Given the description of an element on the screen output the (x, y) to click on. 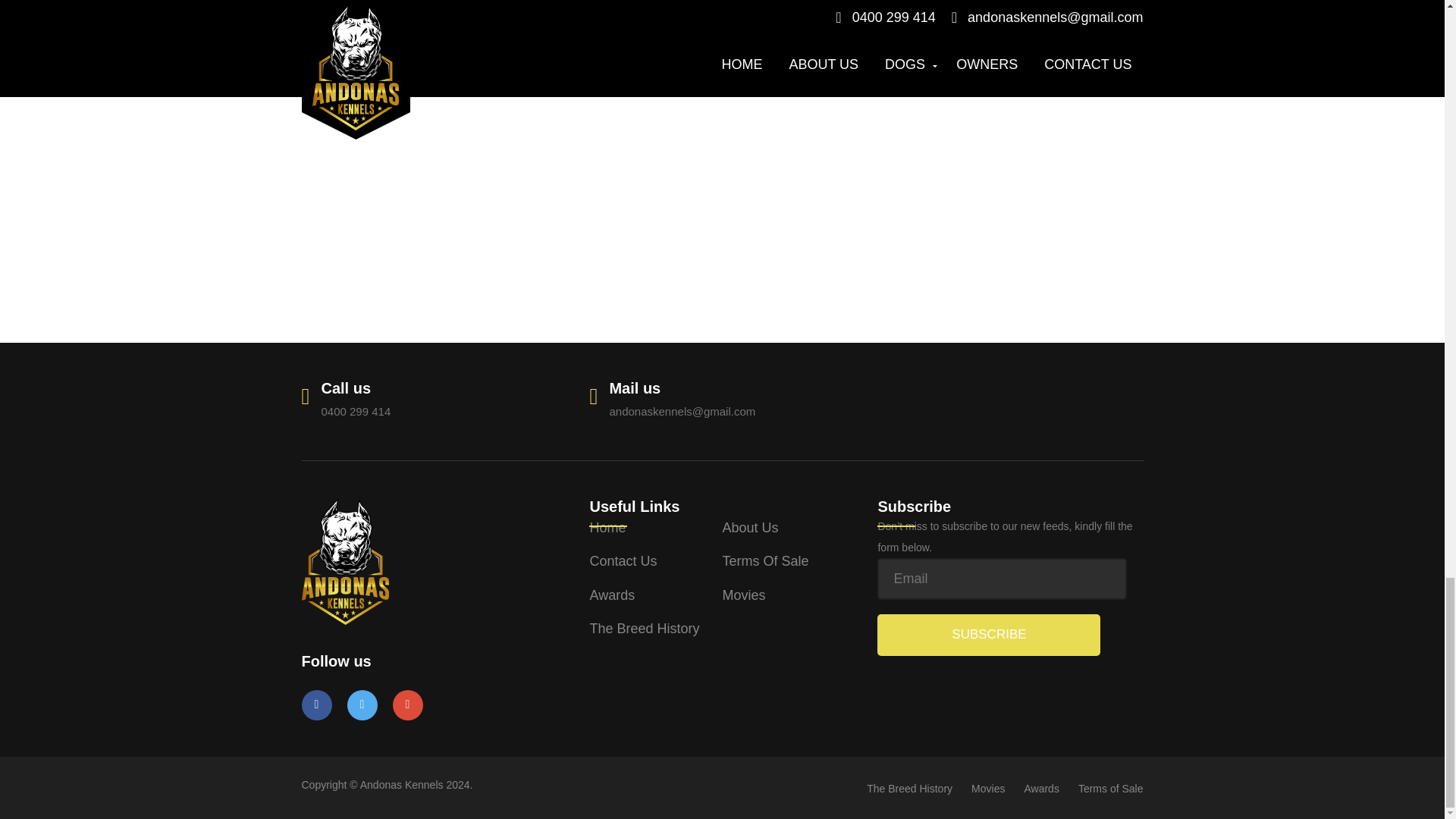
About Us (749, 527)
Subscribe (988, 635)
Contact Us (622, 560)
Subscribe (988, 635)
Terms Of Sale (765, 560)
Andonas Kennels (344, 559)
Movies (743, 595)
Awards (611, 595)
The Breed History (643, 628)
The Breed History (909, 788)
Home (607, 527)
